Given the description of an element on the screen output the (x, y) to click on. 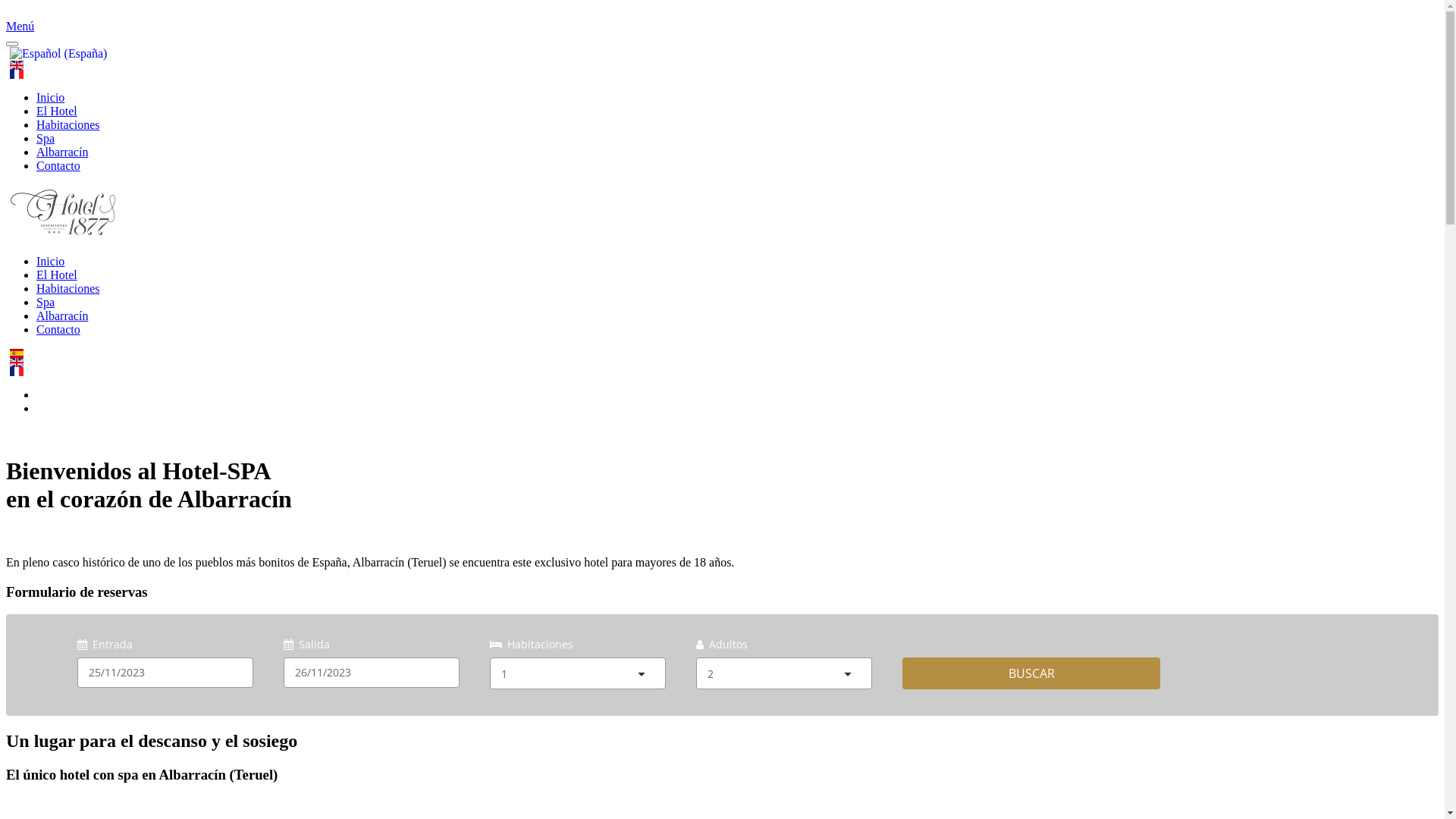
Spa Element type: text (45, 301)
Inicio Element type: text (50, 260)
El Hotel Element type: text (56, 274)
Inicio Element type: text (50, 97)
Habitaciones Element type: text (68, 124)
Contacto Element type: text (58, 329)
English (United Kingdom) Element type: hover (16, 362)
BUSCAR Element type: text (1031, 673)
Contacto Element type: text (58, 165)
English (United Kingdom) Element type: hover (16, 64)
El Hotel Element type: text (56, 110)
Spa Element type: text (45, 137)
Habitaciones Element type: text (68, 288)
